Given the description of an element on the screen output the (x, y) to click on. 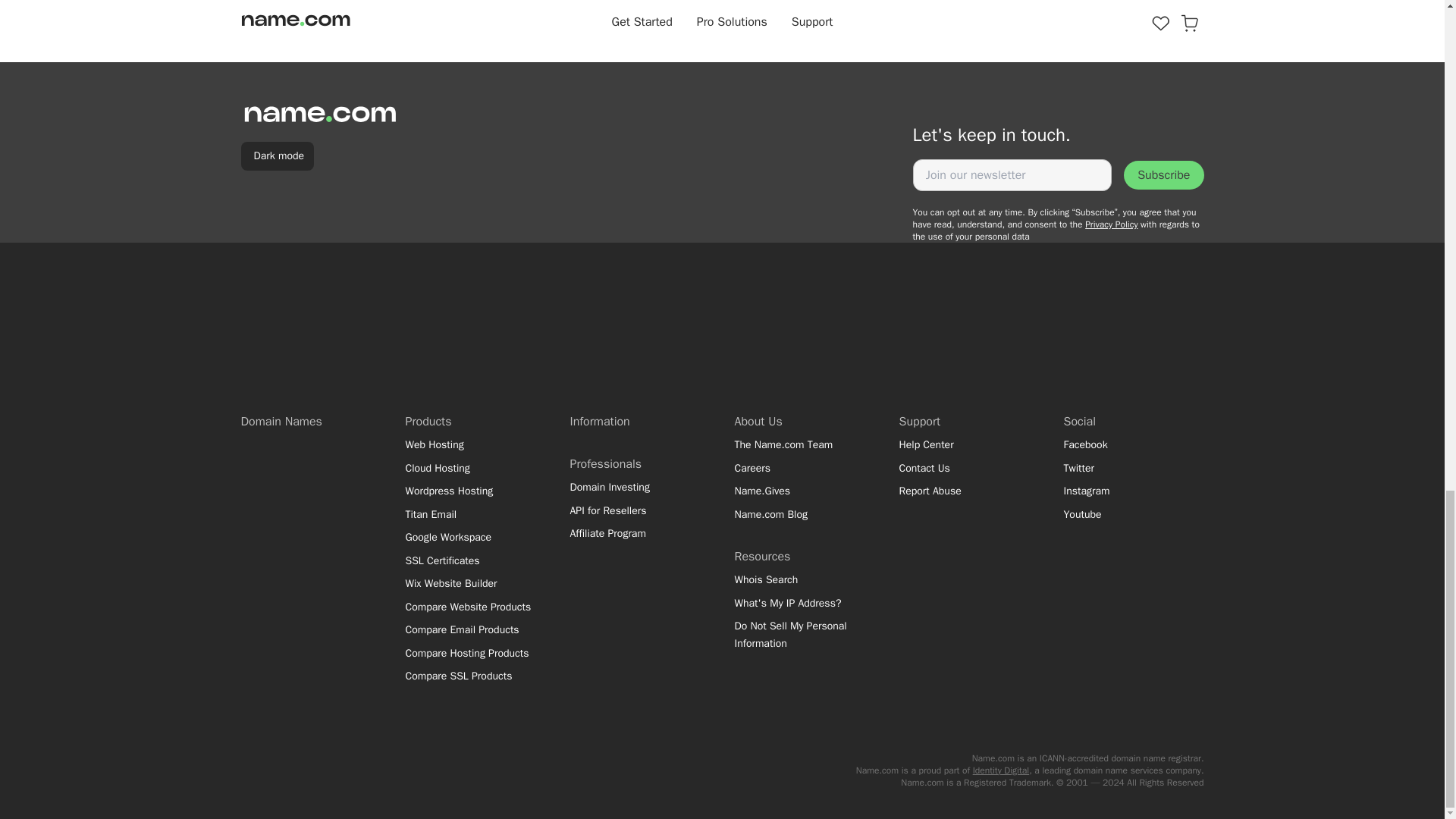
Privacy Policy (1110, 224)
Cloud Hosting (471, 467)
Wordpress Hosting (471, 491)
Web Hosting (471, 445)
Identity Digital (1000, 770)
Subscribe (1164, 174)
